Given the description of an element on the screen output the (x, y) to click on. 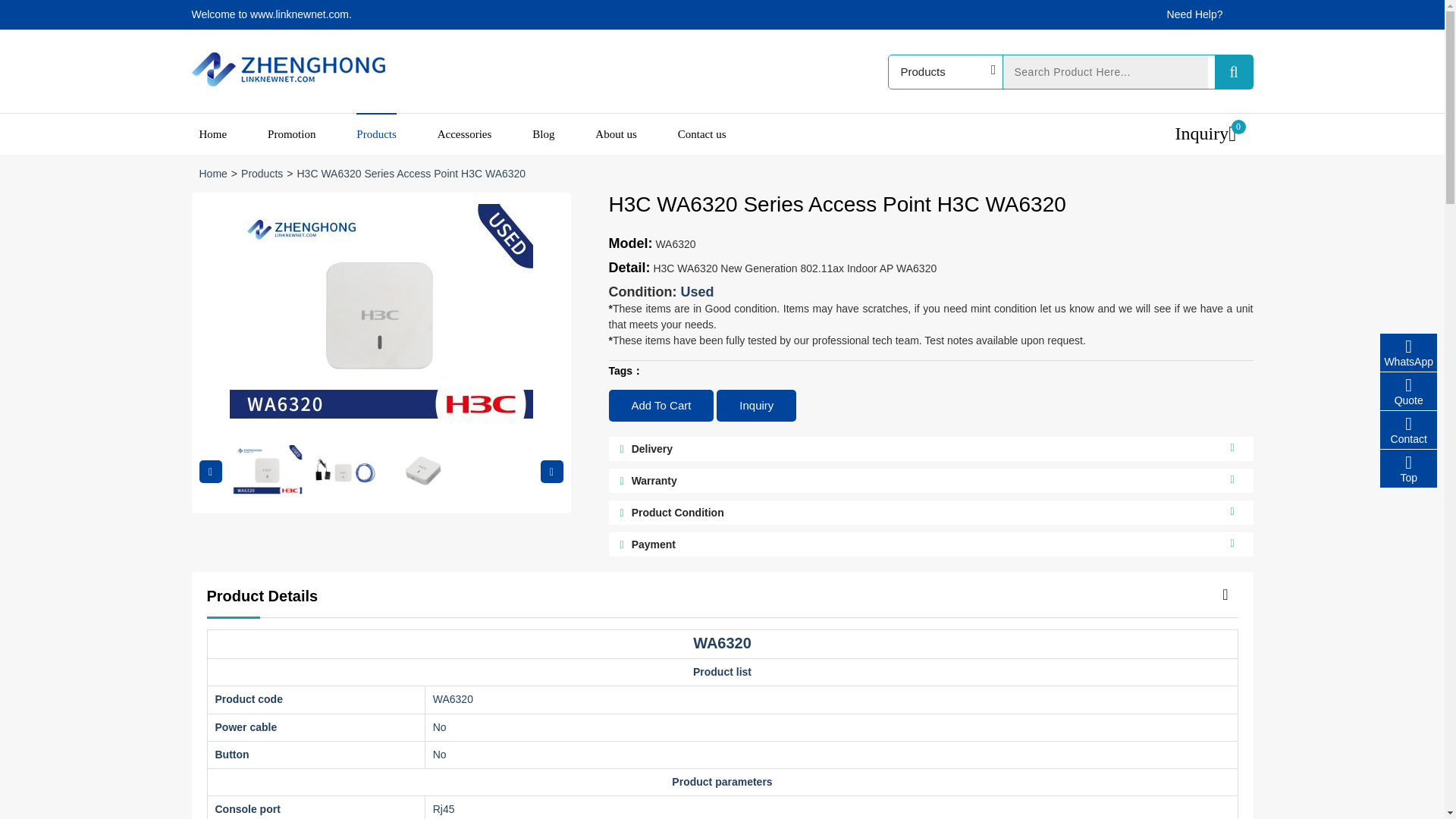
Need Help? (1195, 14)
Promotion (291, 133)
Products (376, 133)
Need Help? (1195, 14)
